Given the description of an element on the screen output the (x, y) to click on. 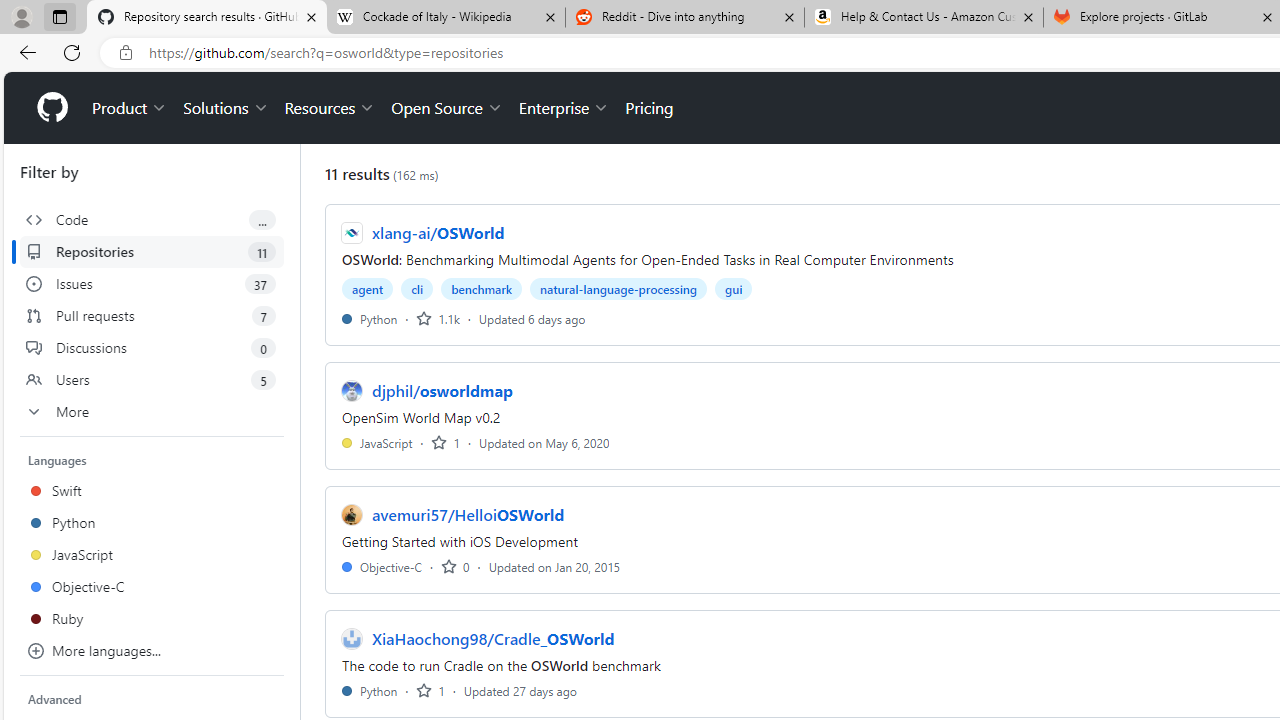
Solutions (225, 107)
Updated 6 days ago (531, 318)
Enterprise (563, 107)
Updated on May 6, 2020 (543, 442)
JavaScript (377, 442)
benchmark (482, 288)
Tab actions menu (59, 16)
Resources (330, 107)
